Given the description of an element on the screen output the (x, y) to click on. 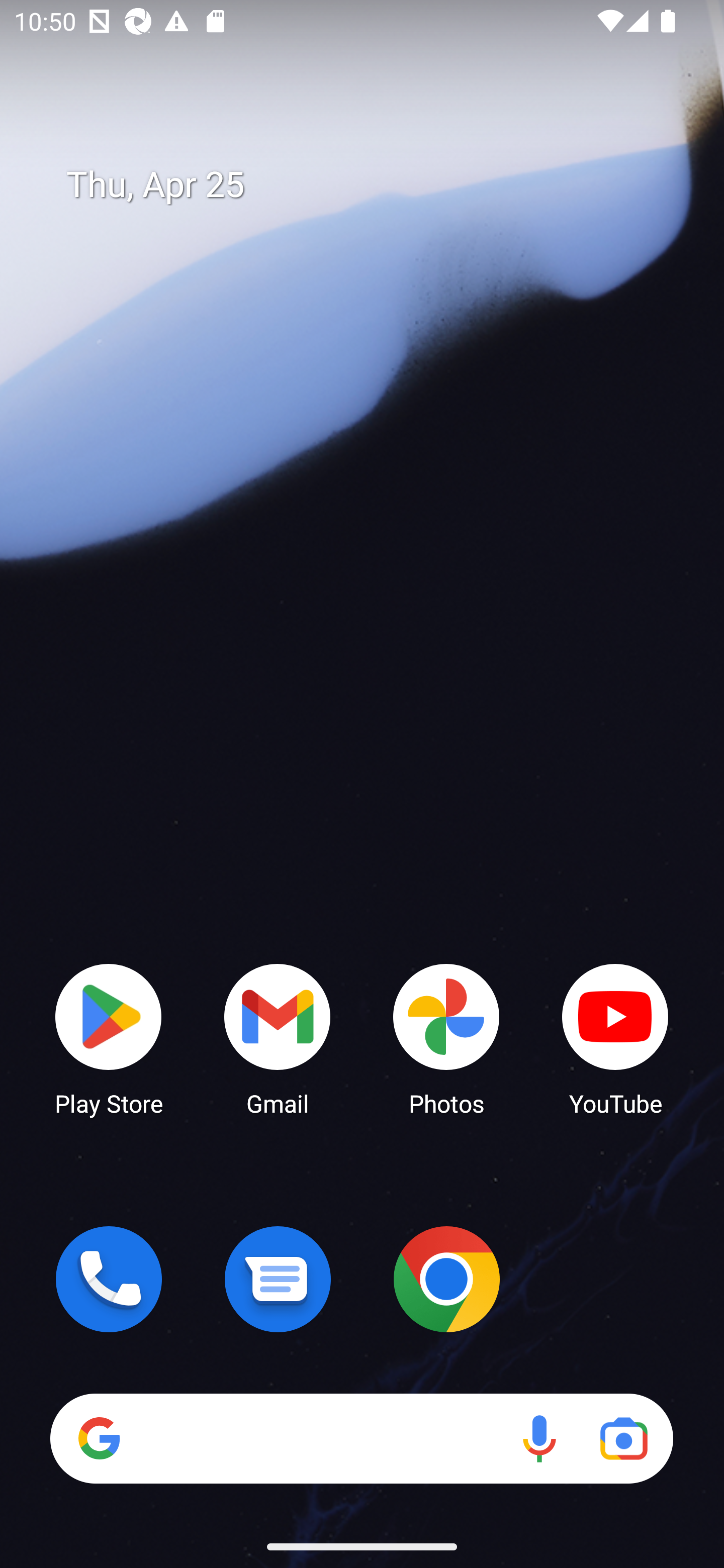
Thu, Apr 25 (375, 184)
Play Store (108, 1038)
Gmail (277, 1038)
Photos (445, 1038)
YouTube (615, 1038)
Phone (108, 1279)
Messages (277, 1279)
Chrome (446, 1279)
Search Voice search Google Lens (361, 1438)
Voice search (539, 1438)
Google Lens (623, 1438)
